Given the description of an element on the screen output the (x, y) to click on. 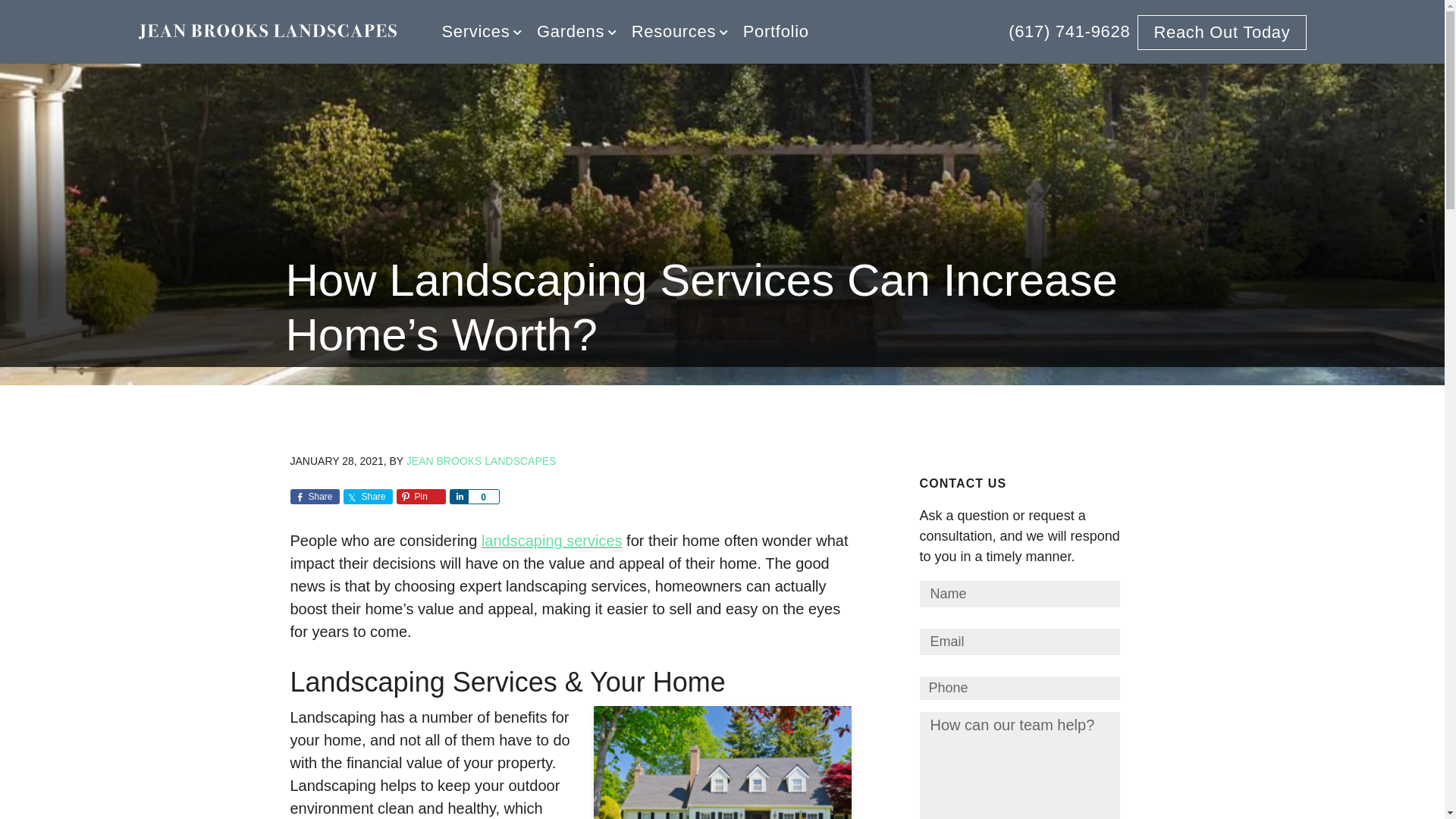
Share (314, 496)
Reach Out Today (1221, 32)
Share (457, 496)
Gardens (576, 32)
0 (483, 496)
JEAN BROOKS LANDSCAPES (481, 460)
Services (480, 32)
landscaping services (552, 540)
Share (366, 496)
Resources (679, 32)
Portfolio (775, 32)
Pin (420, 496)
